Given the description of an element on the screen output the (x, y) to click on. 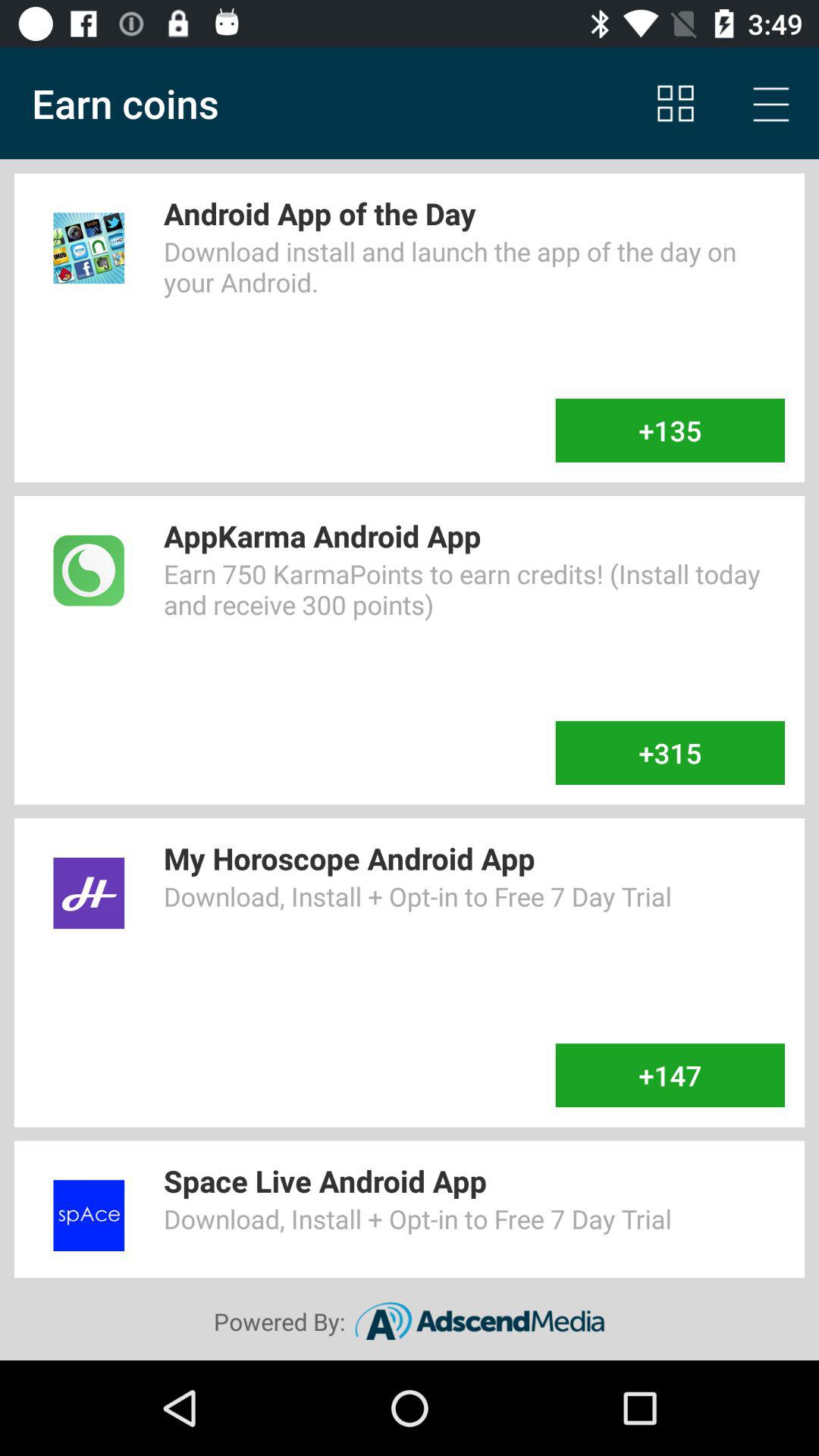
press the item below the download install and icon (669, 430)
